Given the description of an element on the screen output the (x, y) to click on. 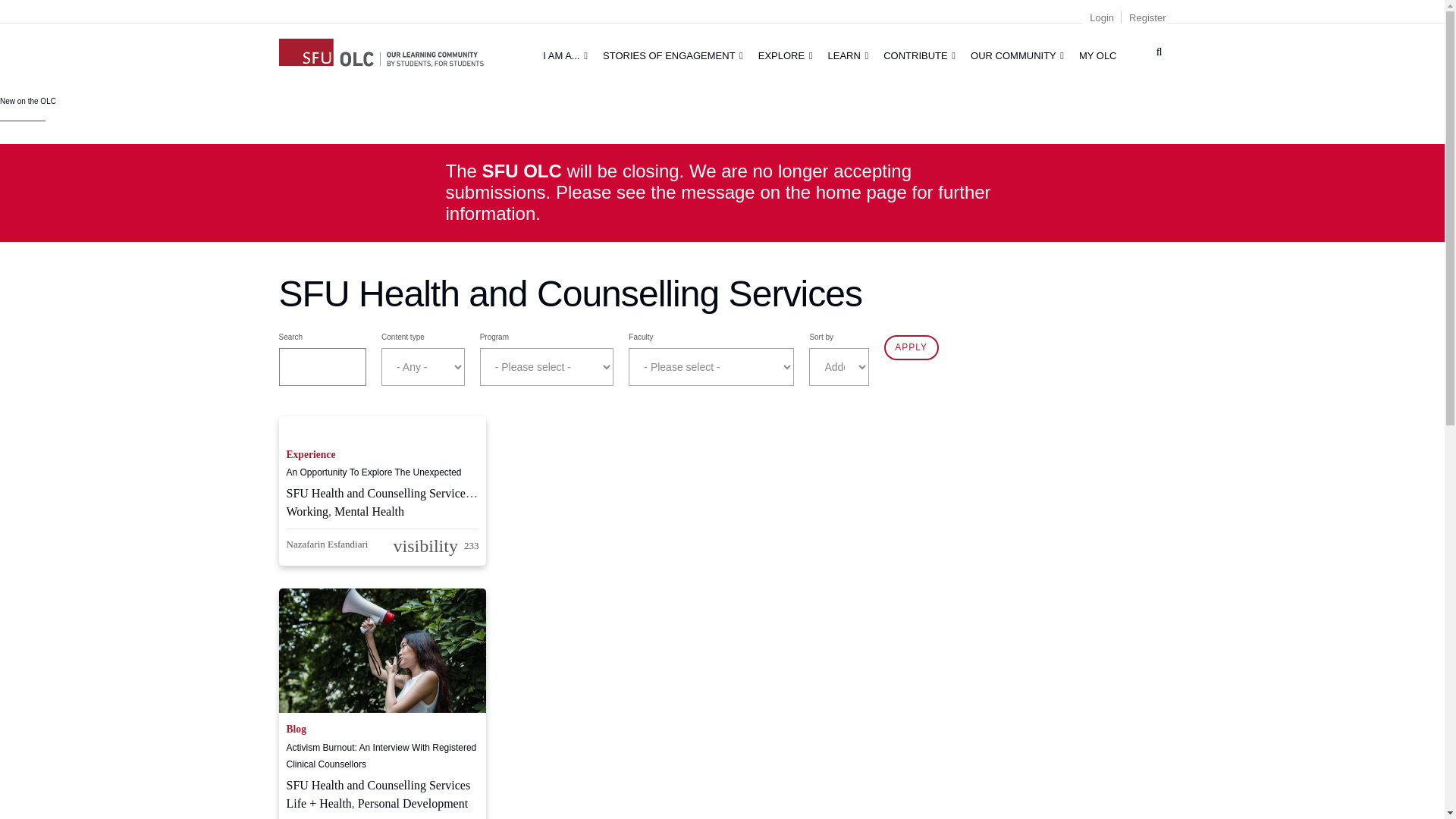
Login (1101, 17)
CONTRIBUTE (919, 55)
Home (381, 50)
Search keywords (322, 366)
LEARN (848, 55)
Apply (911, 347)
STORIES OF ENGAGEMENT (673, 55)
I AM A... (565, 55)
EXPLORE (786, 55)
